Given the description of an element on the screen output the (x, y) to click on. 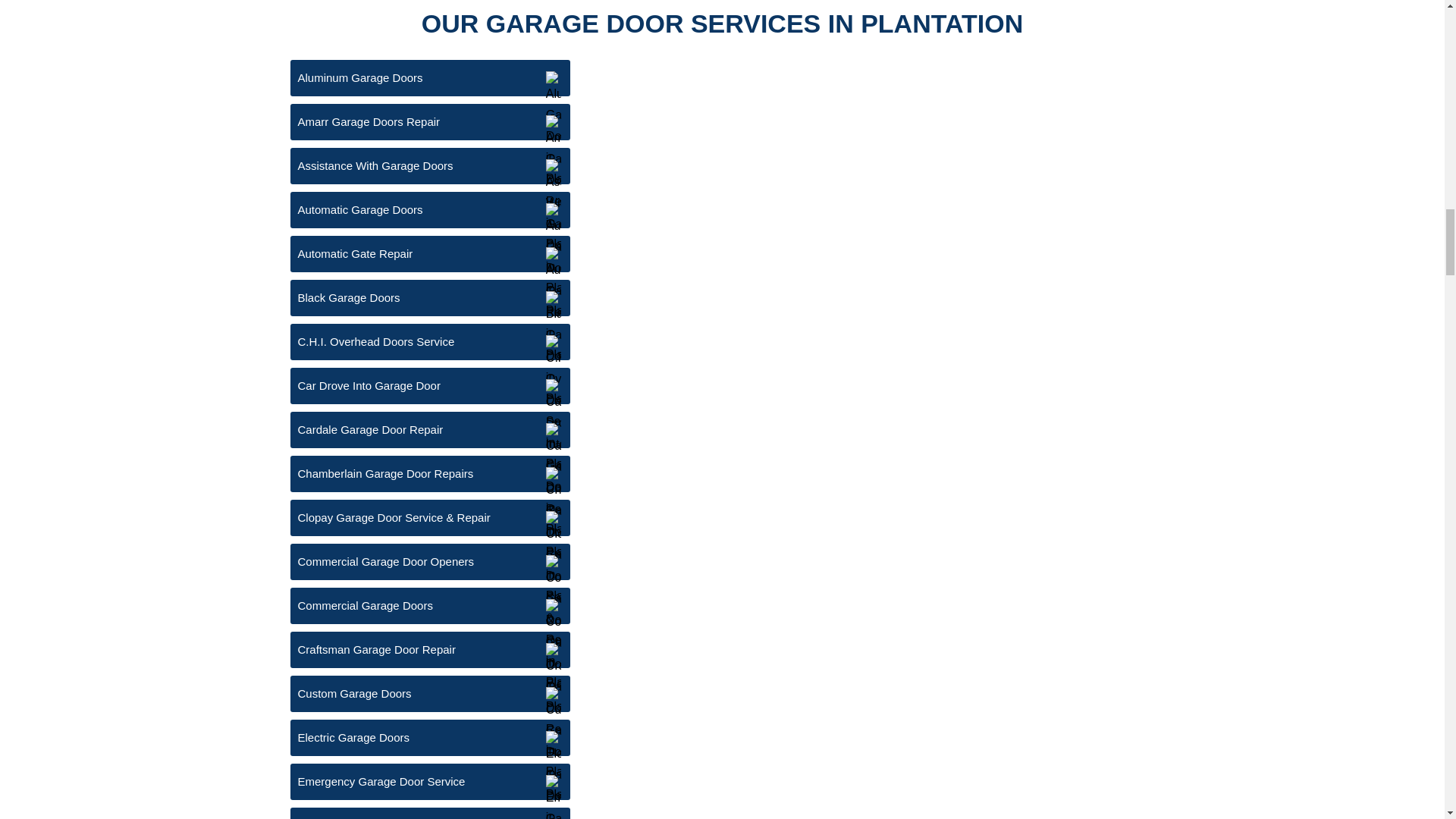
Commercial Garage Doors (429, 606)
Craftsman Garage Door Repair (429, 649)
Assistance With Garage Doors (429, 166)
Custom Garage Doors (429, 693)
Energy-efficient Garage Doors (429, 813)
Automatic Garage Doors (429, 209)
Amarr Garage Doors Repair (429, 122)
Commercial Garage Door Openers (429, 561)
Emergency Garage Door Service (429, 781)
Cardale Garage Door Repair (429, 429)
Chamberlain Garage Door Repairs (429, 473)
Electric Garage Doors (429, 737)
Car Drove Into Garage Door (429, 385)
C.H.I. Overhead Doors Service (429, 341)
Aluminum Garage Doors (429, 77)
